Given the description of an element on the screen output the (x, y) to click on. 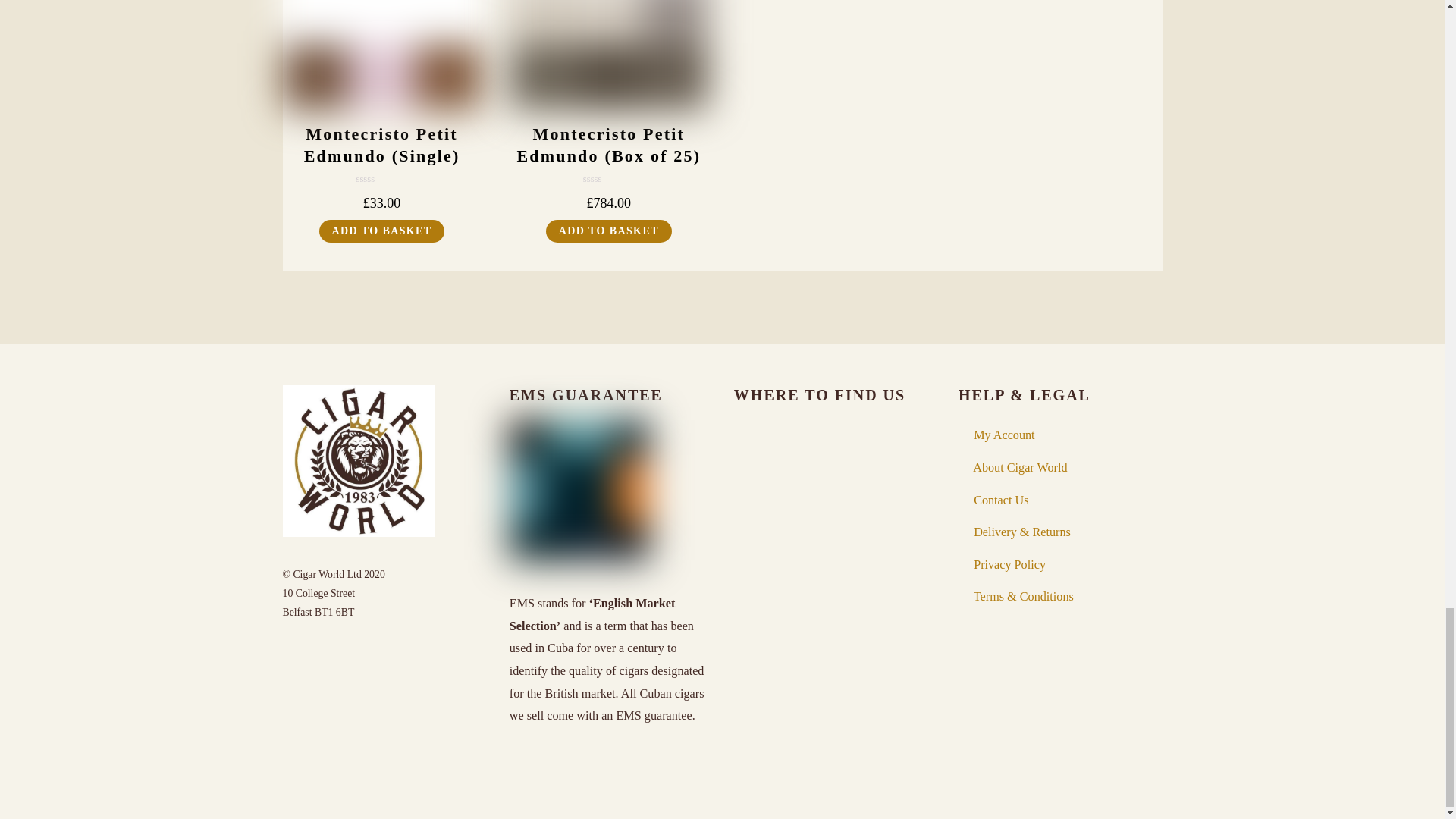
montecristo-petit-edmundo-25 (608, 54)
montecristo-petit-edmundo-single (381, 54)
Cigar World Ltd (357, 530)
